Given the description of an element on the screen output the (x, y) to click on. 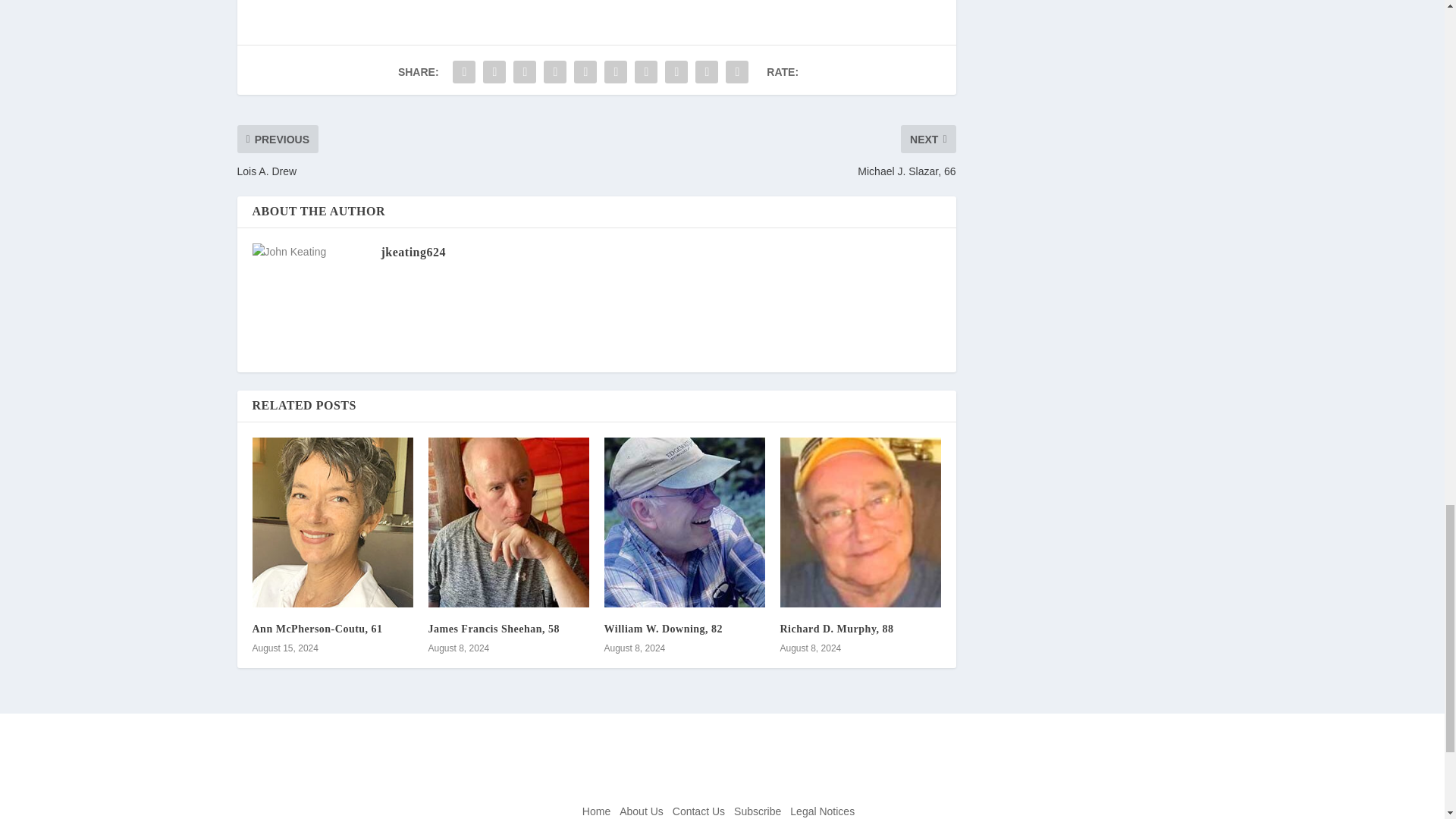
James Francis Sheehan, 58 (493, 628)
Richard D. Murphy, 88 (835, 628)
jkeating624 (412, 251)
William W. Downing, 82 (663, 628)
Ann McPherson-Coutu, 61 (316, 628)
